Given the description of an element on the screen output the (x, y) to click on. 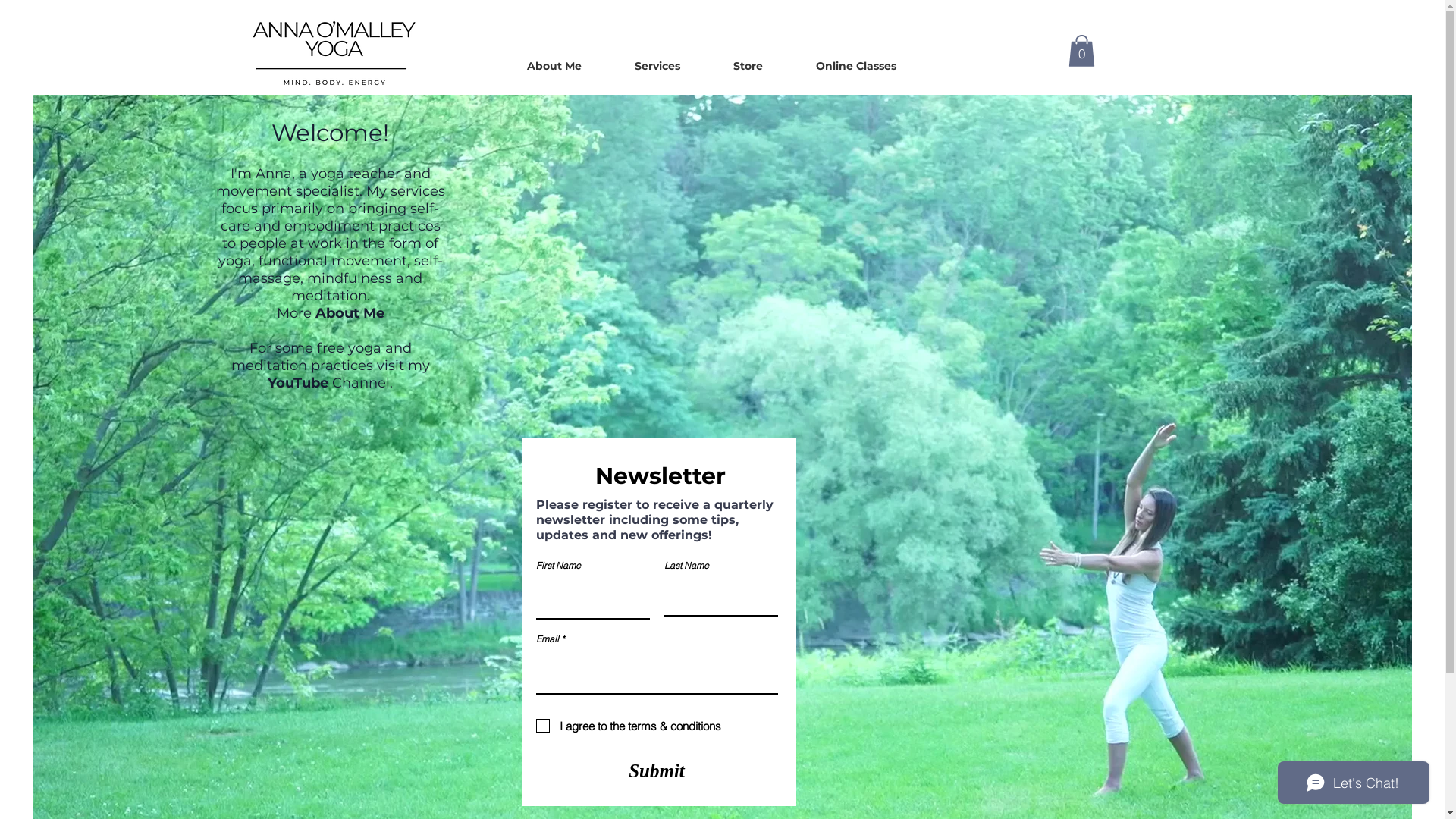
YouTube Channel. Element type: text (329, 382)
Services Element type: text (657, 65)
About Me Element type: text (554, 65)
0 Element type: text (1080, 50)
Store Element type: text (747, 65)
Submit Element type: text (656, 770)
More About Me Element type: text (329, 312)
Online Classes Element type: text (855, 65)
